Given the description of an element on the screen output the (x, y) to click on. 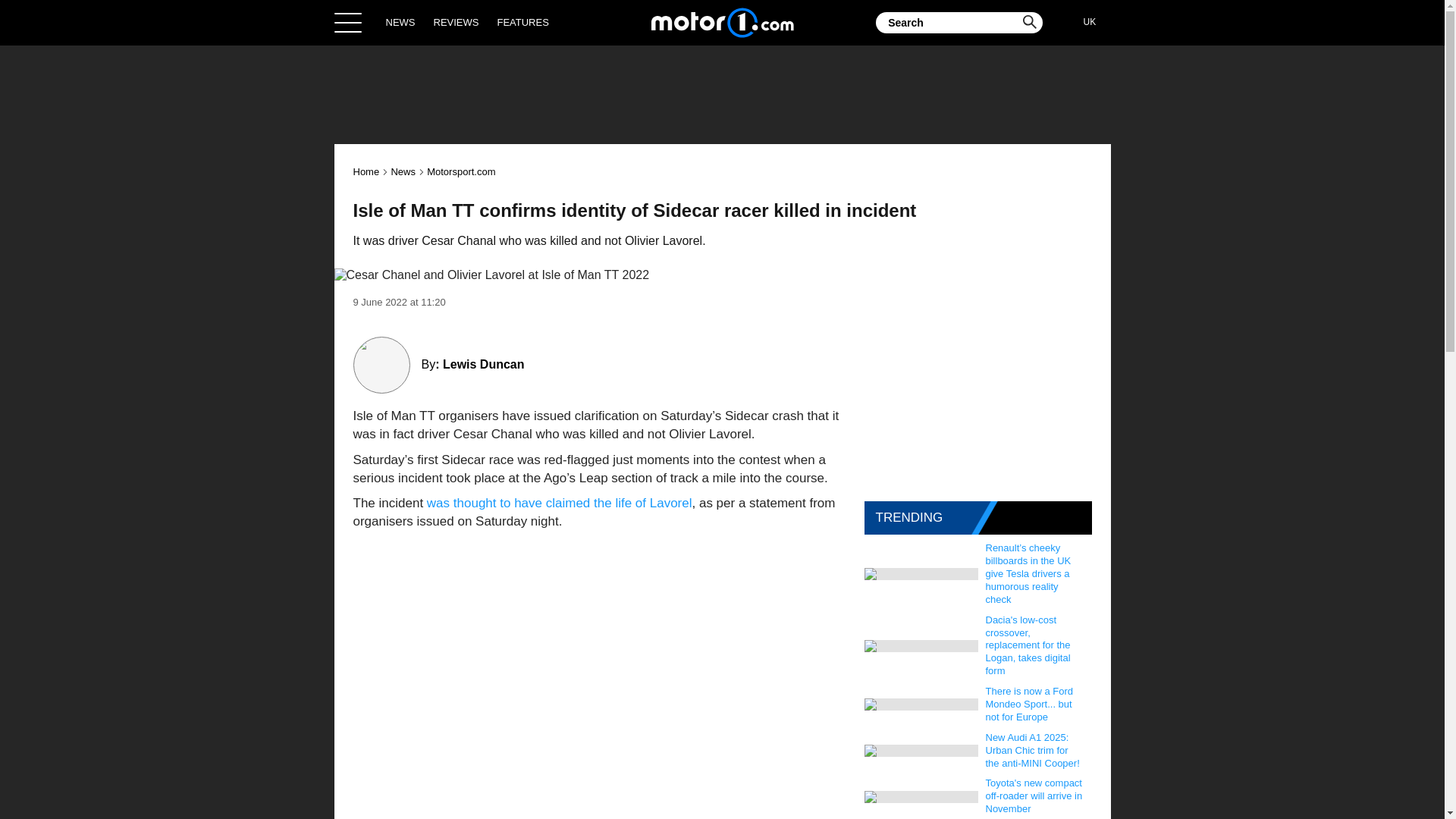
REVIEWS (456, 22)
Lewis Duncan (483, 364)
Motorsport.com (460, 171)
was thought to have claimed the life of Lavorel (559, 503)
News (402, 171)
NEWS (399, 22)
There is now a Ford Mondeo Sport... but not for Europe (1035, 704)
Home (366, 171)
Home (721, 22)
FEATURES (522, 22)
